Given the description of an element on the screen output the (x, y) to click on. 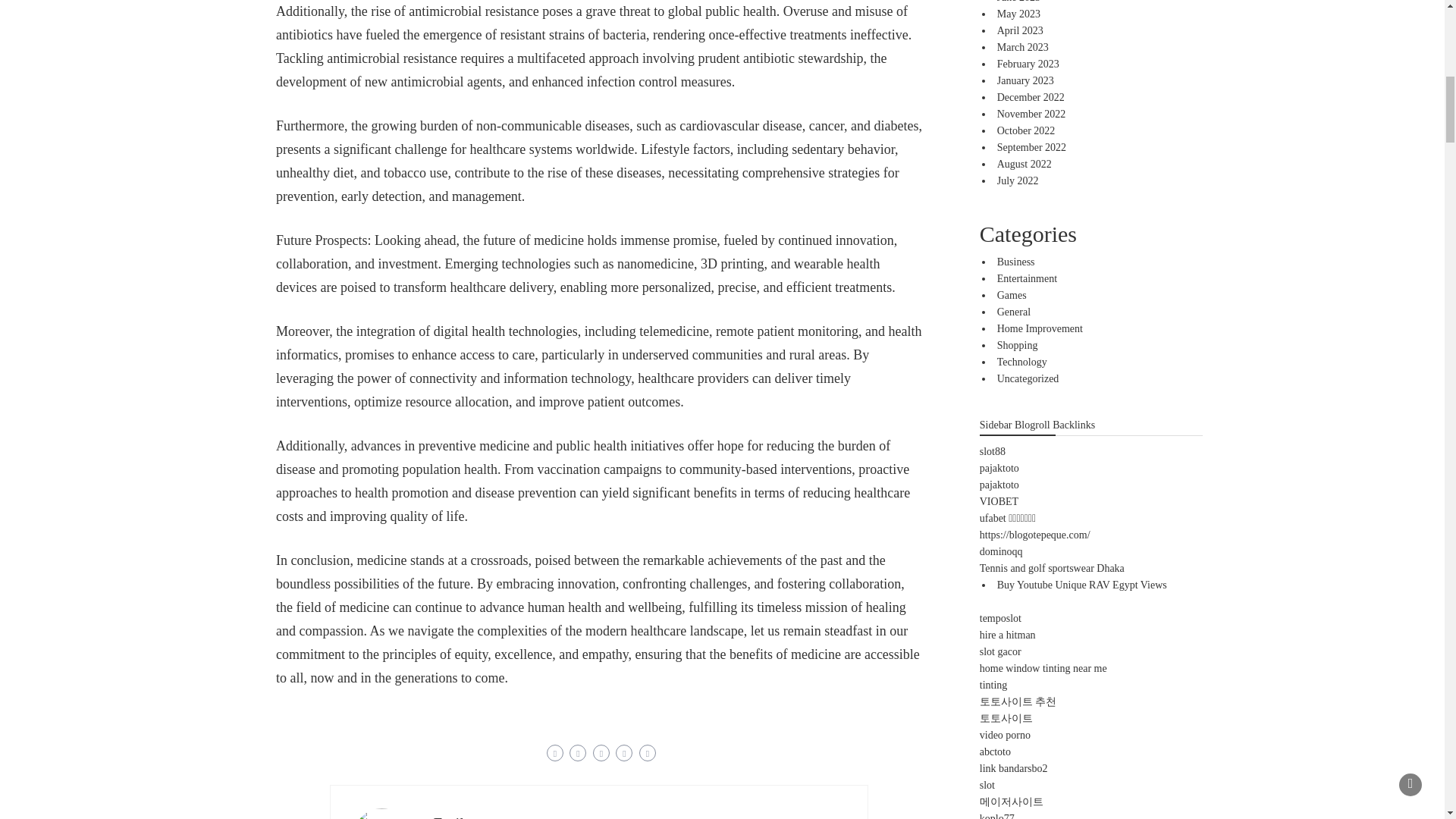
Emily (451, 816)
